Given the description of an element on the screen output the (x, y) to click on. 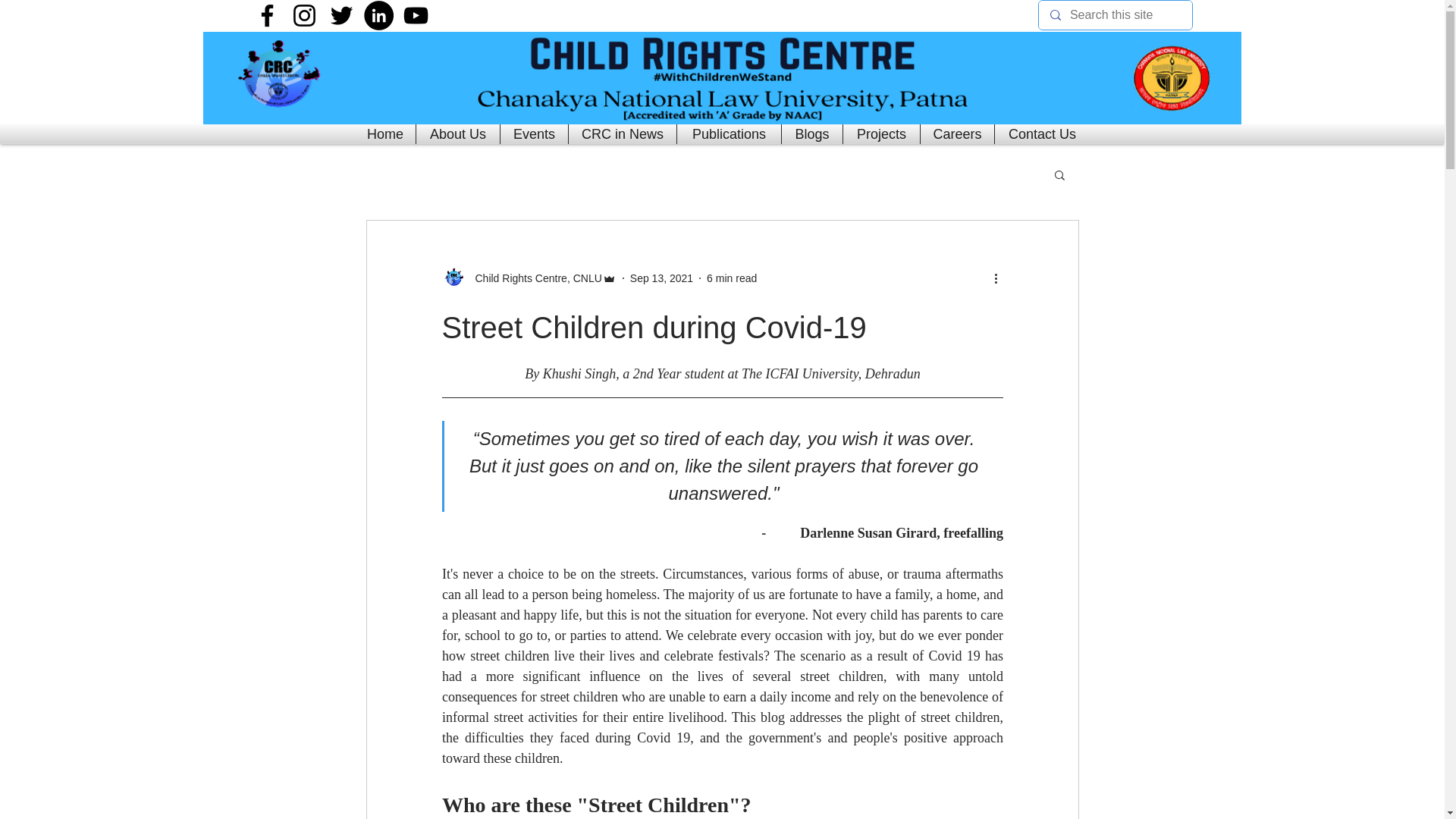
Child Rights Centre, CNLU (533, 277)
Events (533, 134)
Home (385, 134)
Contact Us (1042, 134)
Publications (729, 134)
CRC in News (622, 134)
6 min read (731, 277)
Child Rights Centre, CNLU Patna (722, 77)
Sep 13, 2021 (661, 277)
Careers (957, 134)
